Given the description of an element on the screen output the (x, y) to click on. 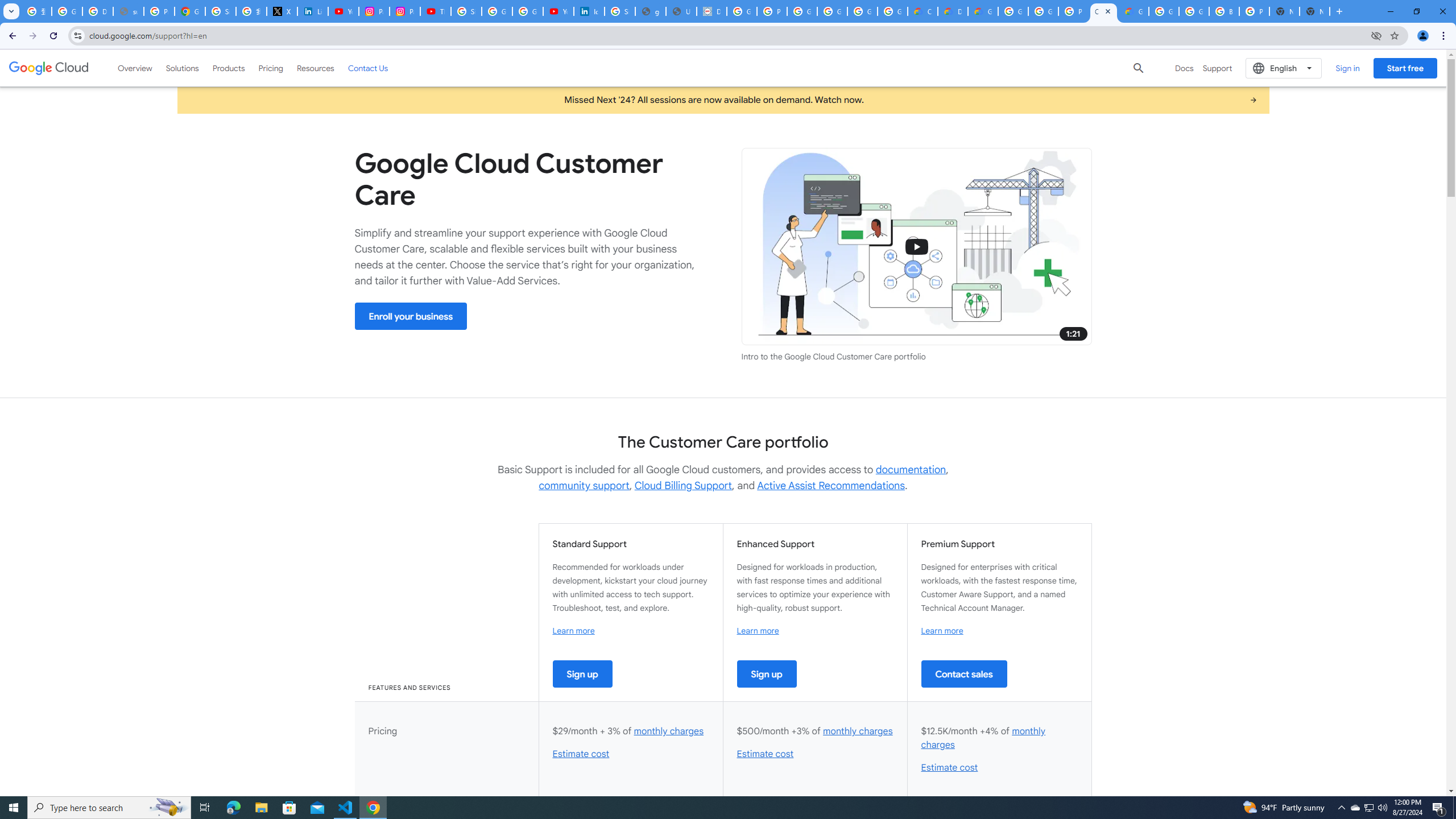
Gemini for Business and Developers | Google Cloud (982, 11)
Pricing (270, 67)
Start free (1405, 67)
Sign in - Google Accounts (465, 11)
